Given the description of an element on the screen output the (x, y) to click on. 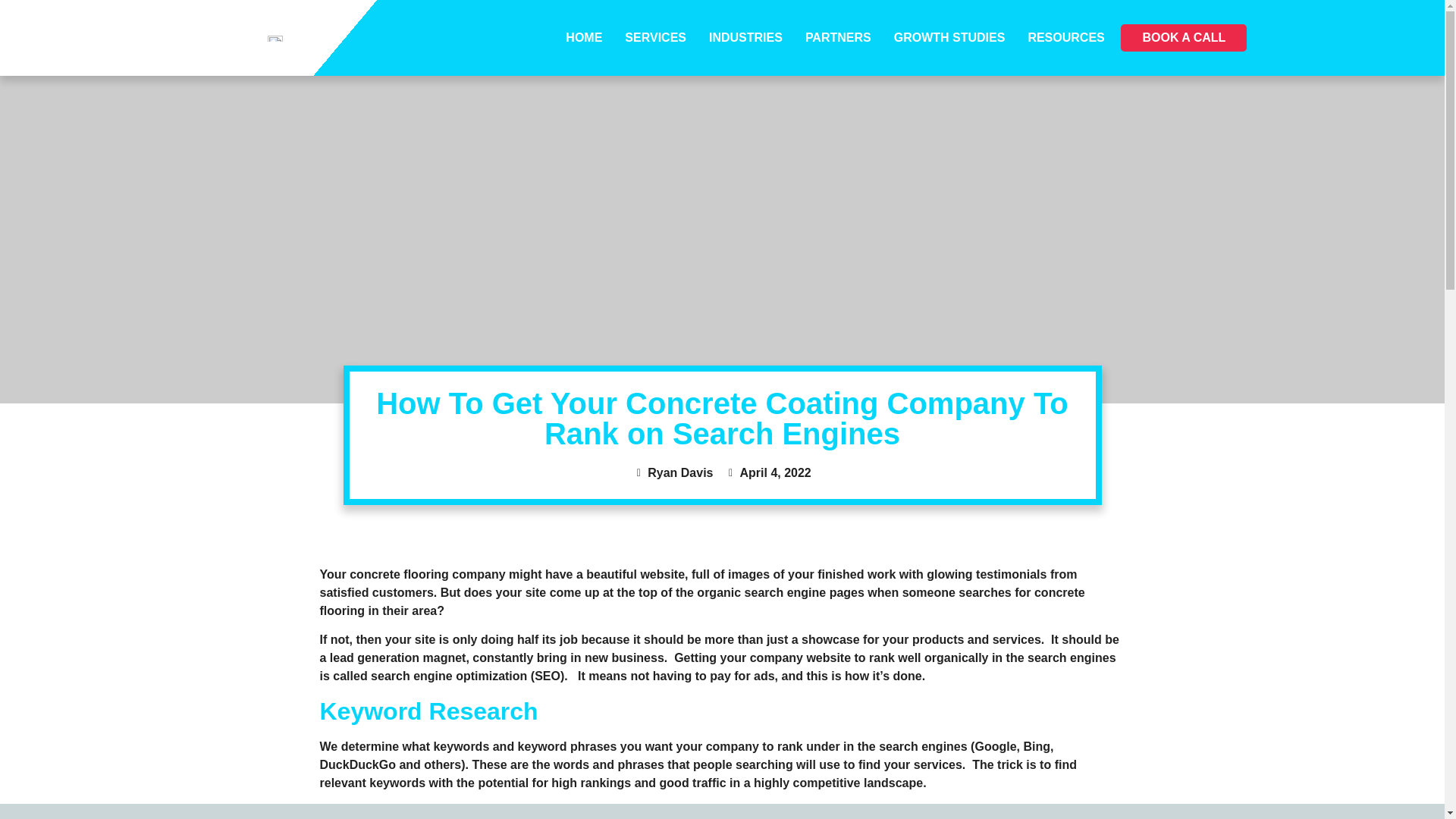
RESOURCES (1065, 37)
INDUSTRIES (746, 37)
SERVICES (654, 37)
PARTNERS (837, 37)
GROWTH STUDIES (949, 37)
HOME (584, 37)
